Given the description of an element on the screen output the (x, y) to click on. 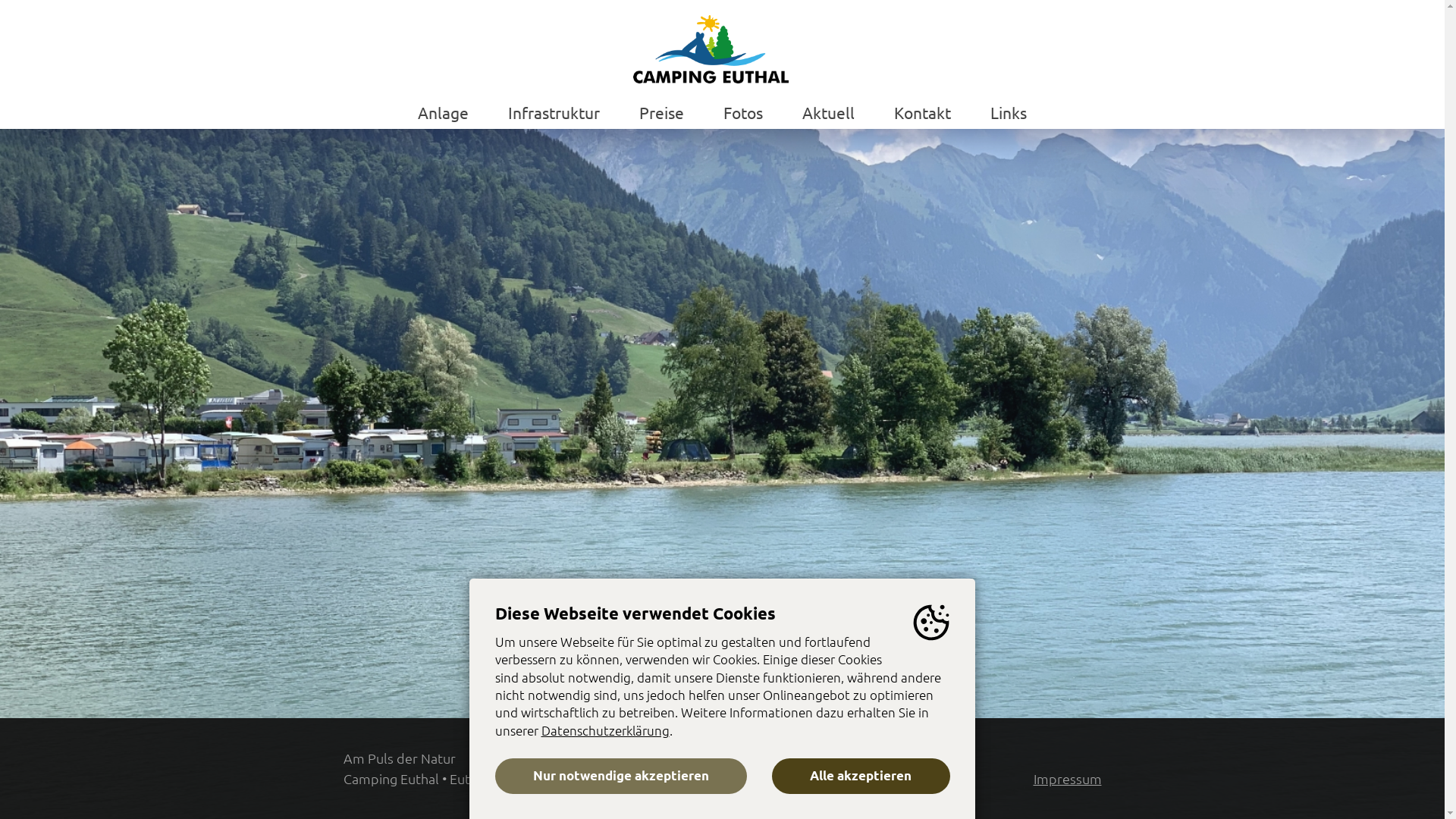
Fotos Element type: text (742, 111)
Alle akzeptieren Element type: text (860, 775)
Kontakt Element type: text (922, 111)
Aktuell Element type: text (828, 111)
contact@camping-euthal.ch Element type: text (866, 778)
Nur notwendige akzeptieren Element type: text (620, 775)
Links Element type: text (1008, 111)
Infrastruktur Element type: text (553, 111)
Impressum Element type: text (1066, 778)
Anlage Element type: text (442, 111)
Preise Element type: text (661, 111)
